Given the description of an element on the screen output the (x, y) to click on. 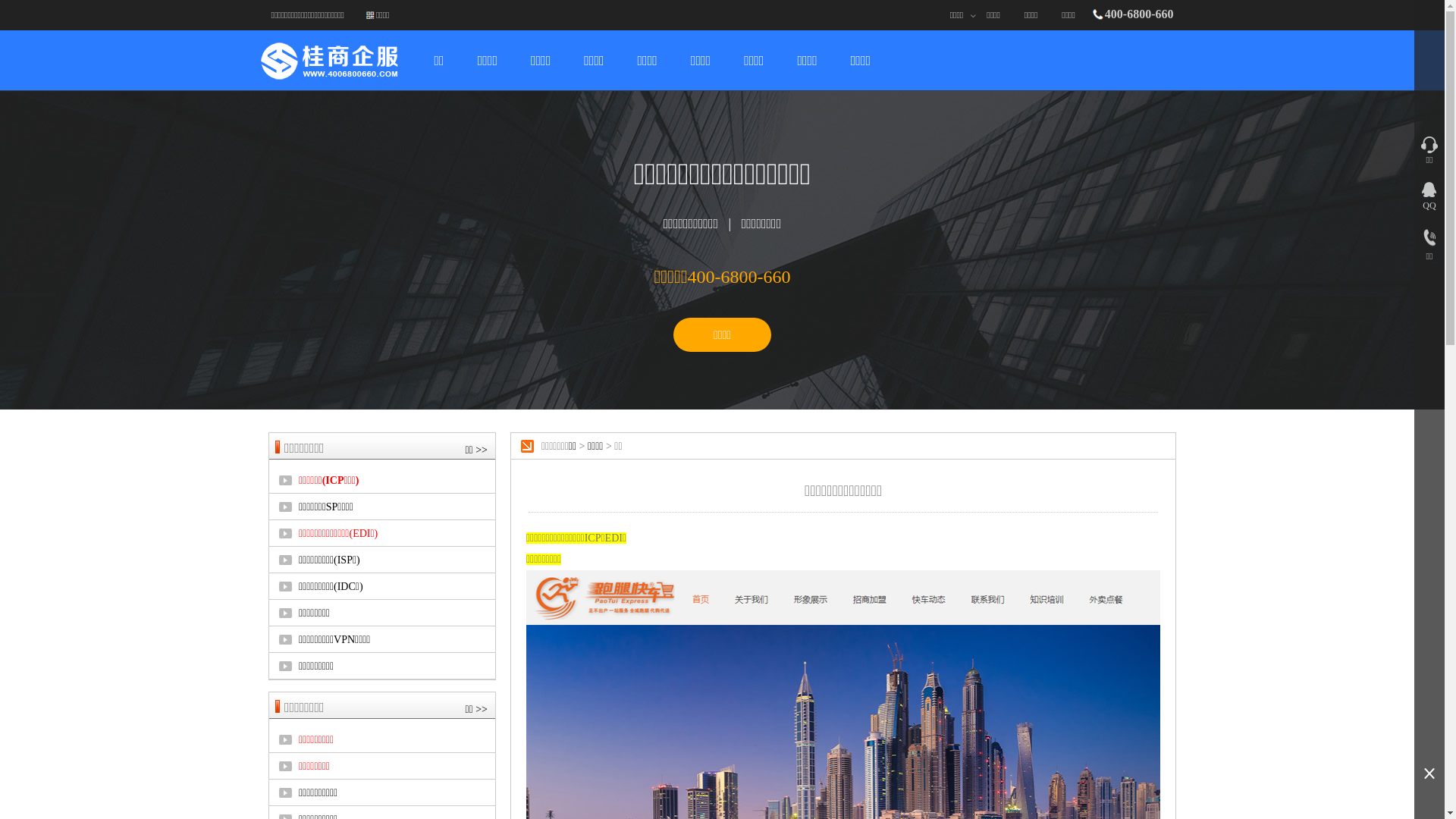
QQ Element type: text (1429, 193)
